Given the description of an element on the screen output the (x, y) to click on. 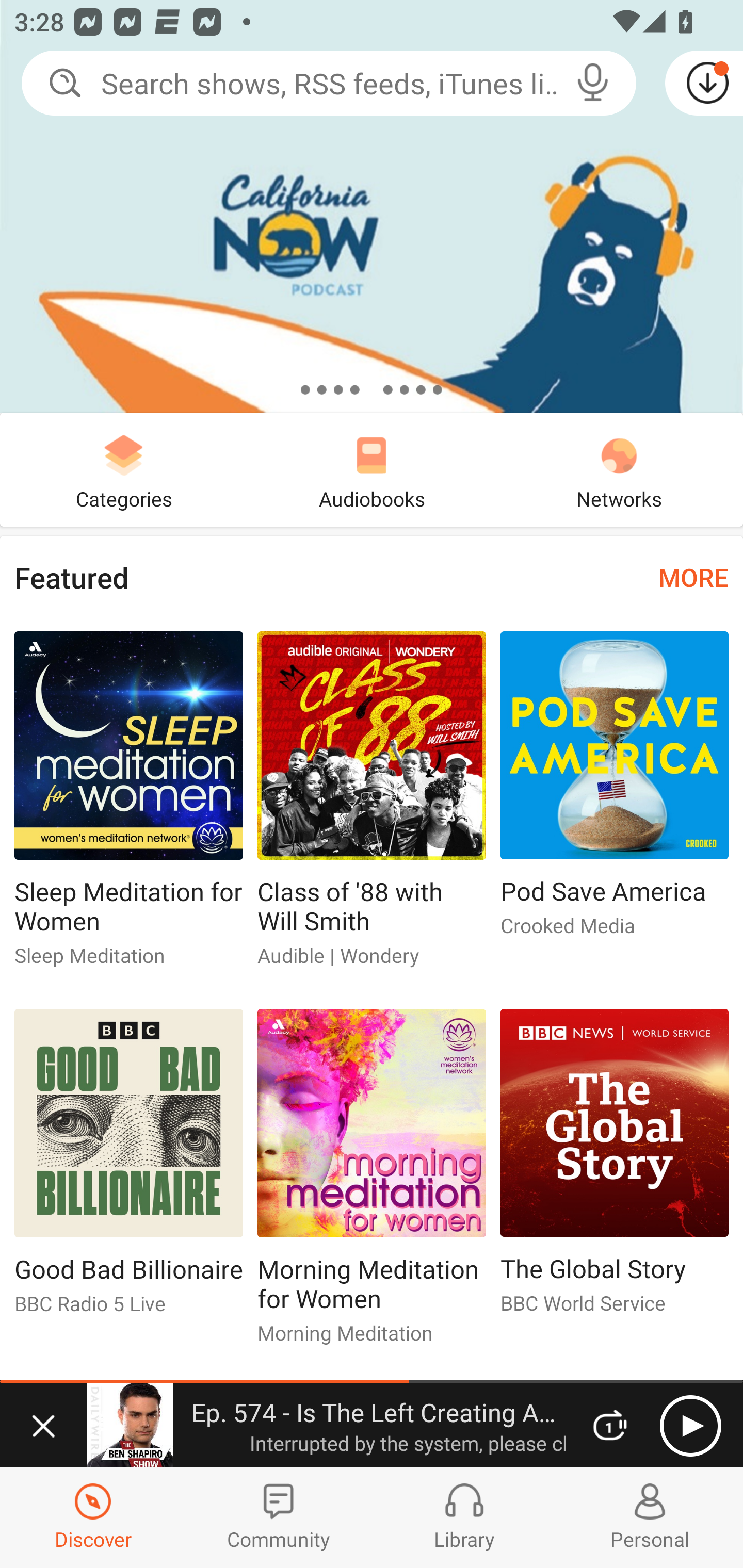
California Now Podcast (371, 206)
Categories (123, 469)
Audiobooks (371, 469)
Networks (619, 469)
MORE (693, 576)
Pod Save America Pod Save America Crooked Media (614, 792)
Play (690, 1425)
Discover (92, 1517)
Community (278, 1517)
Library (464, 1517)
Profiles and Settings Personal (650, 1517)
